Given the description of an element on the screen output the (x, y) to click on. 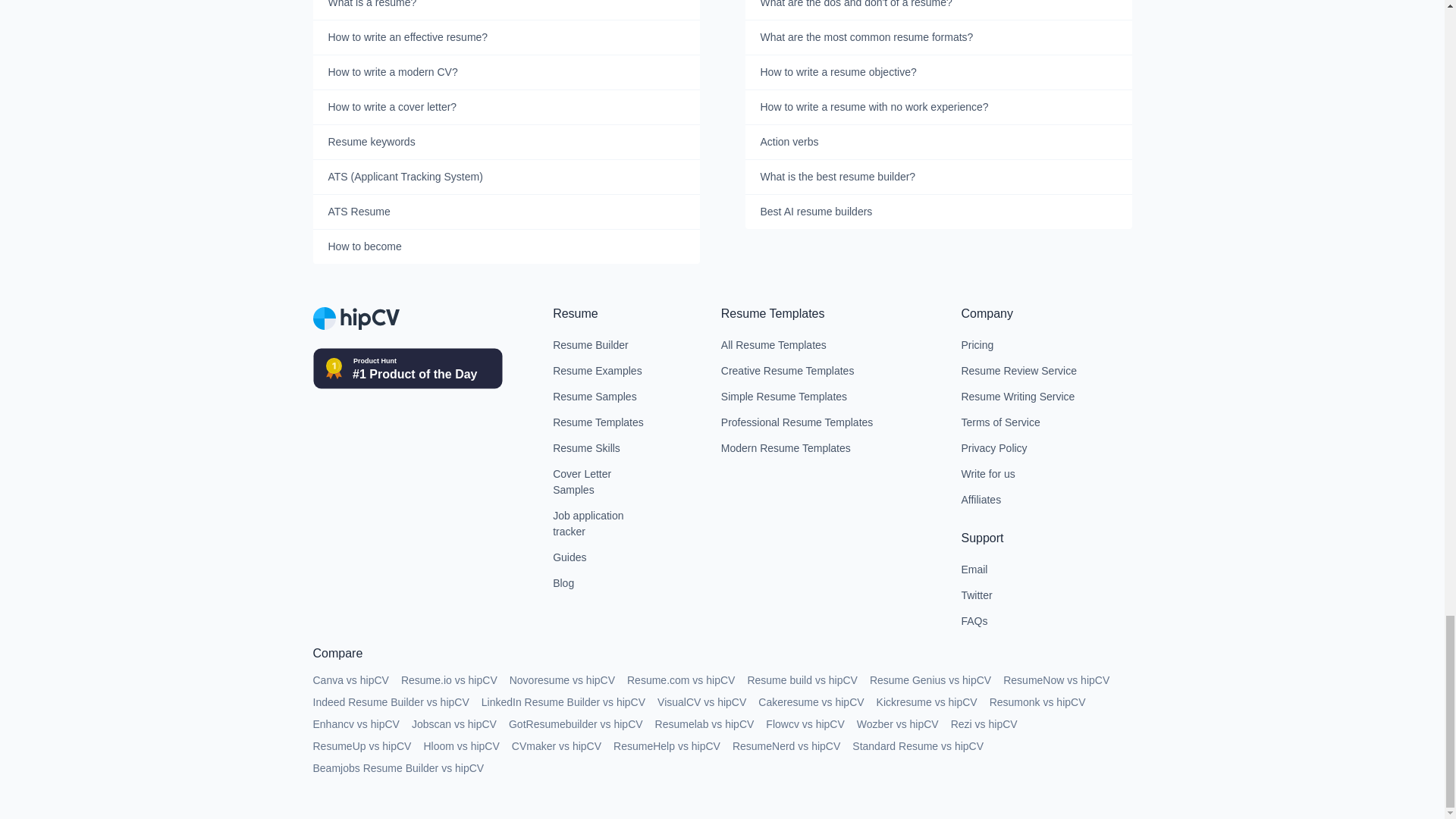
Resume Skills (601, 448)
How to write a resume objective? (937, 72)
Resume Builder (601, 345)
How to become (505, 246)
What is the best resume builder? (937, 176)
ATS Resume (505, 212)
How to write an effective resume? (505, 37)
Action verbs (937, 142)
What are the dos and don't of a resume? (937, 10)
Best AI resume builders (937, 211)
